Given the description of an element on the screen output the (x, y) to click on. 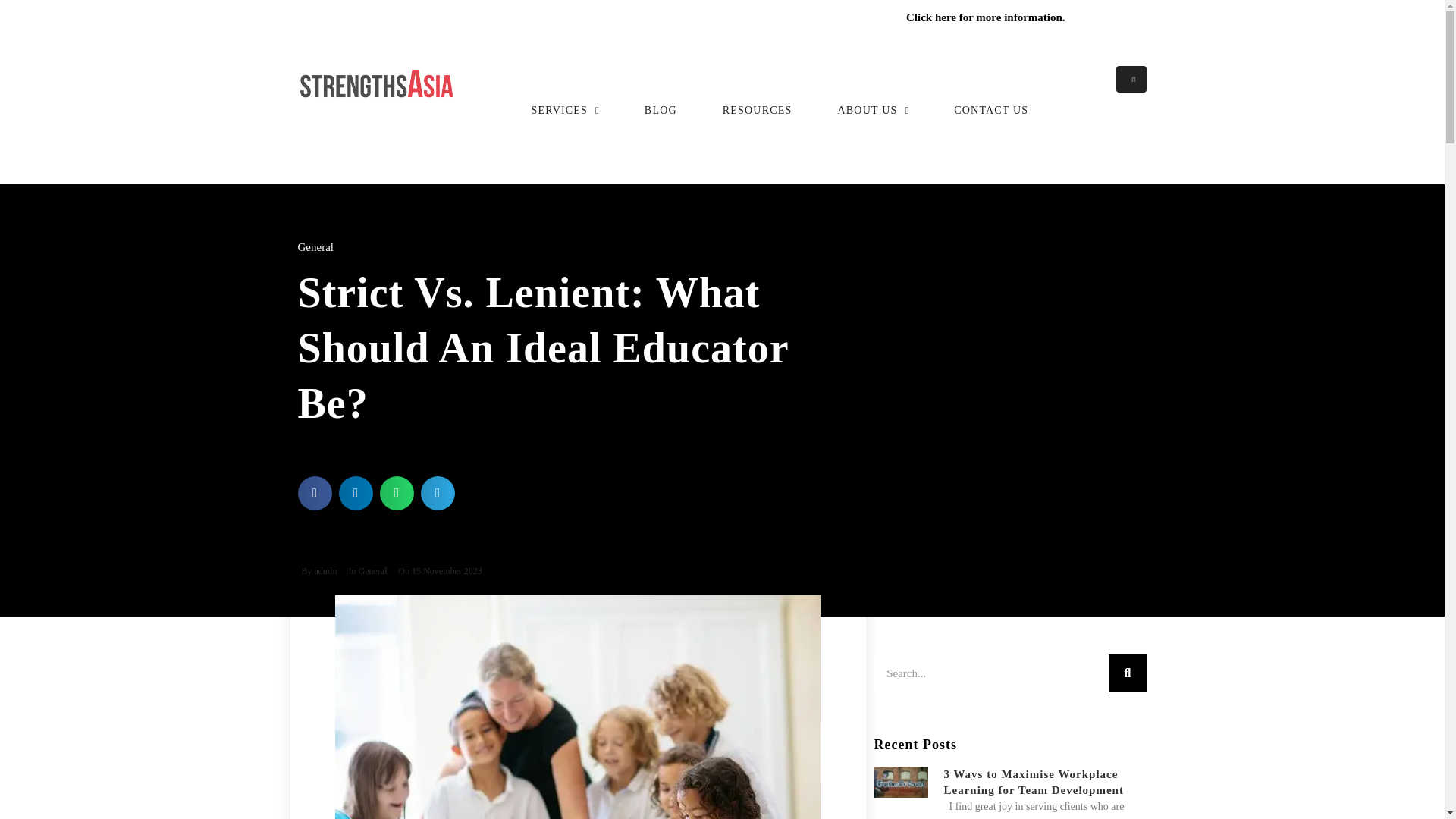
By admin (316, 571)
General (372, 570)
CONTACT US (990, 102)
General (315, 246)
Click here for more information. (985, 17)
SERVICES (564, 102)
RESOURCES (757, 102)
ABOUT US (872, 102)
